Given the description of an element on the screen output the (x, y) to click on. 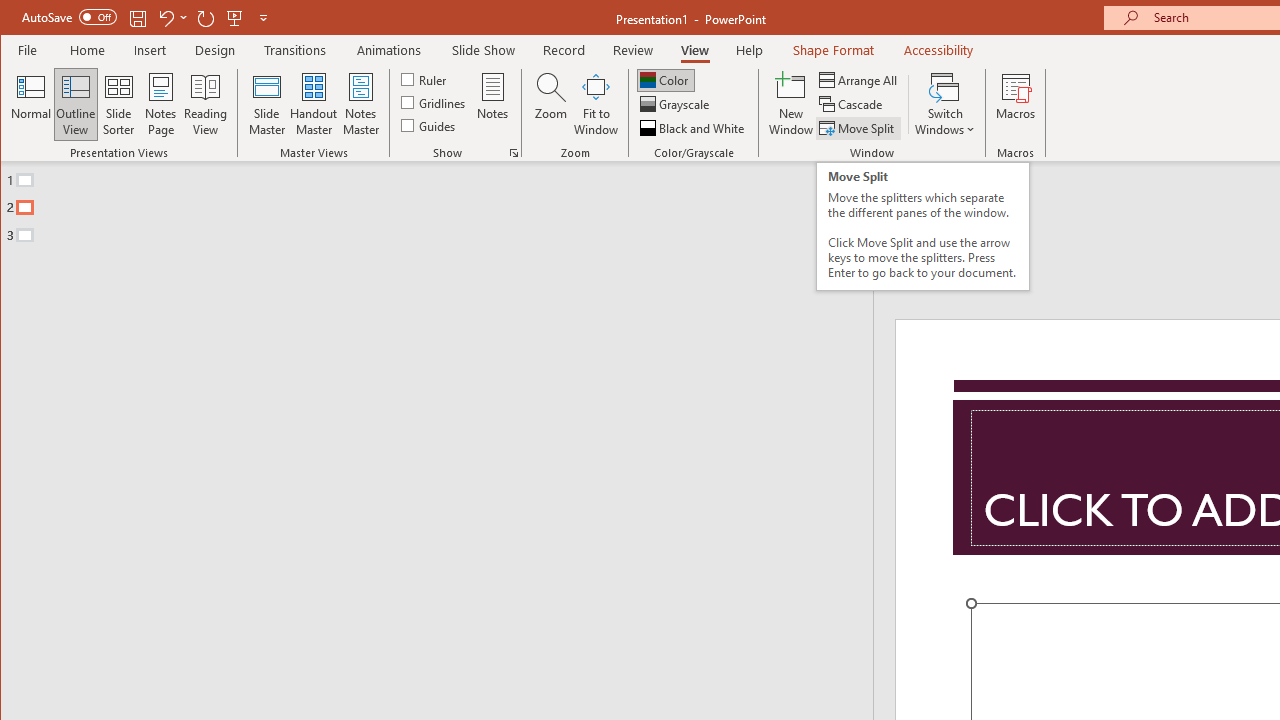
Outline View (75, 104)
Macros (1016, 104)
Switch Windows (944, 104)
Zoom... (550, 104)
Arrange All (859, 80)
Guides (430, 124)
Color (666, 80)
Gridlines (435, 101)
Grid Settings... (513, 152)
